Given the description of an element on the screen output the (x, y) to click on. 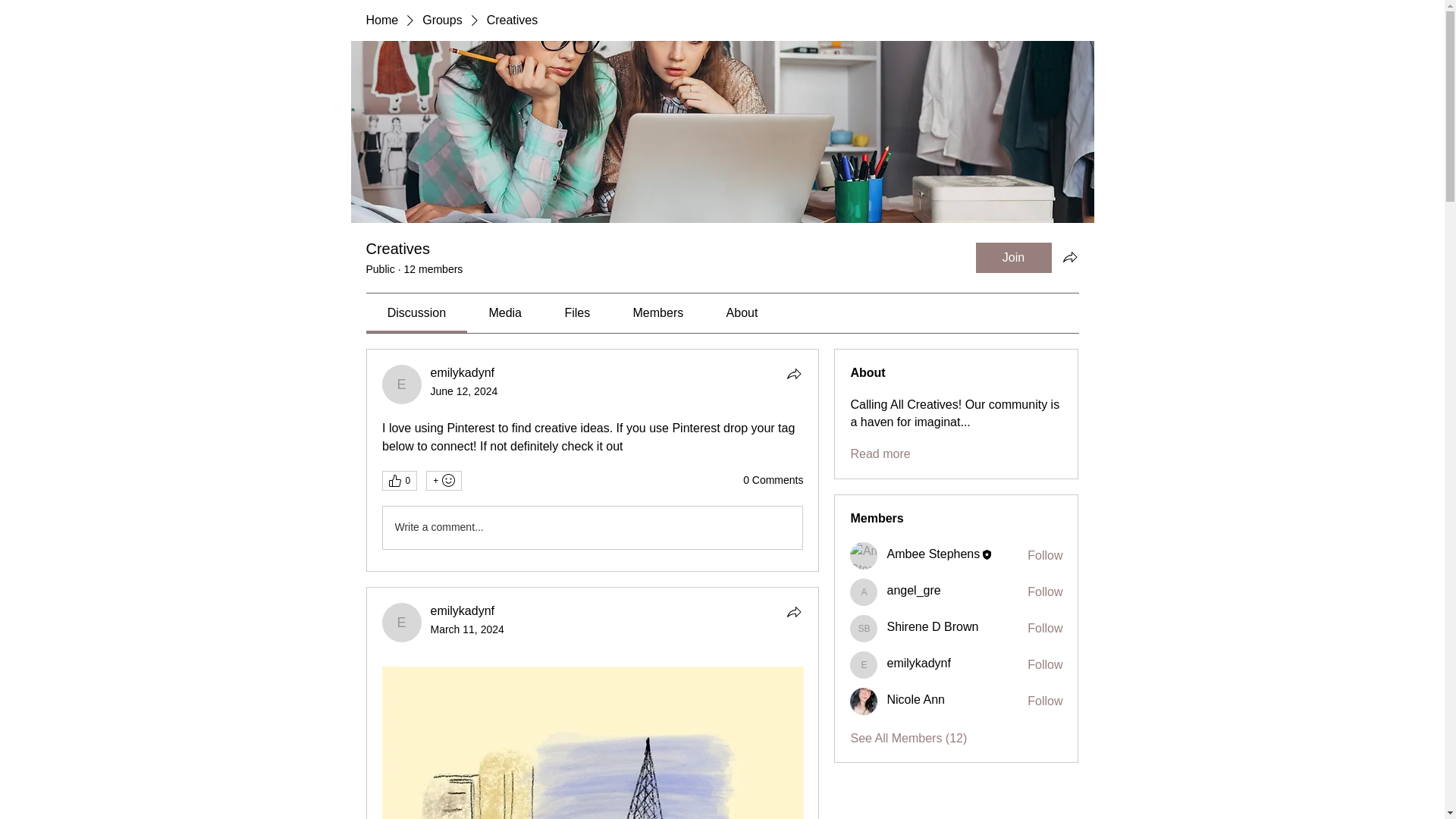
emilykadynf (462, 372)
Groups (441, 20)
Write a comment... (591, 527)
Ambee Stephens (863, 555)
June 12, 2024 (463, 390)
Shirene D  Brown (863, 628)
emilykadynf (401, 384)
0 Comments (772, 480)
emilykadynf (401, 622)
March 11, 2024 (466, 629)
emilykadynf (462, 610)
Join (1013, 257)
emilykadynf (863, 664)
